Given the description of an element on the screen output the (x, y) to click on. 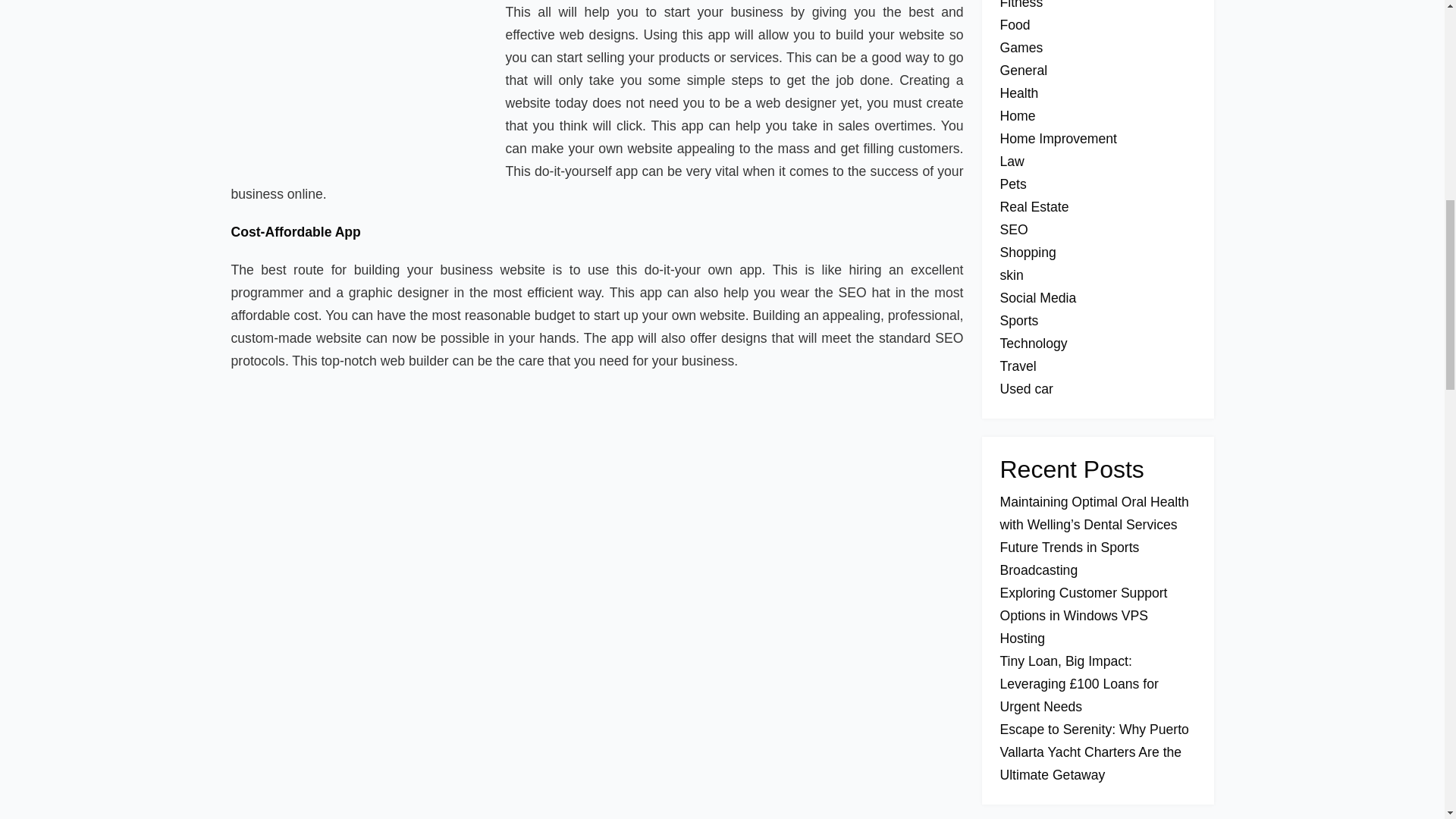
Law (1010, 160)
Pets (1012, 183)
Games (1020, 47)
Home Improvement (1057, 138)
Home (1016, 115)
Fitness (1020, 4)
Food (1013, 24)
General (1022, 70)
Health (1018, 92)
